Given the description of an element on the screen output the (x, y) to click on. 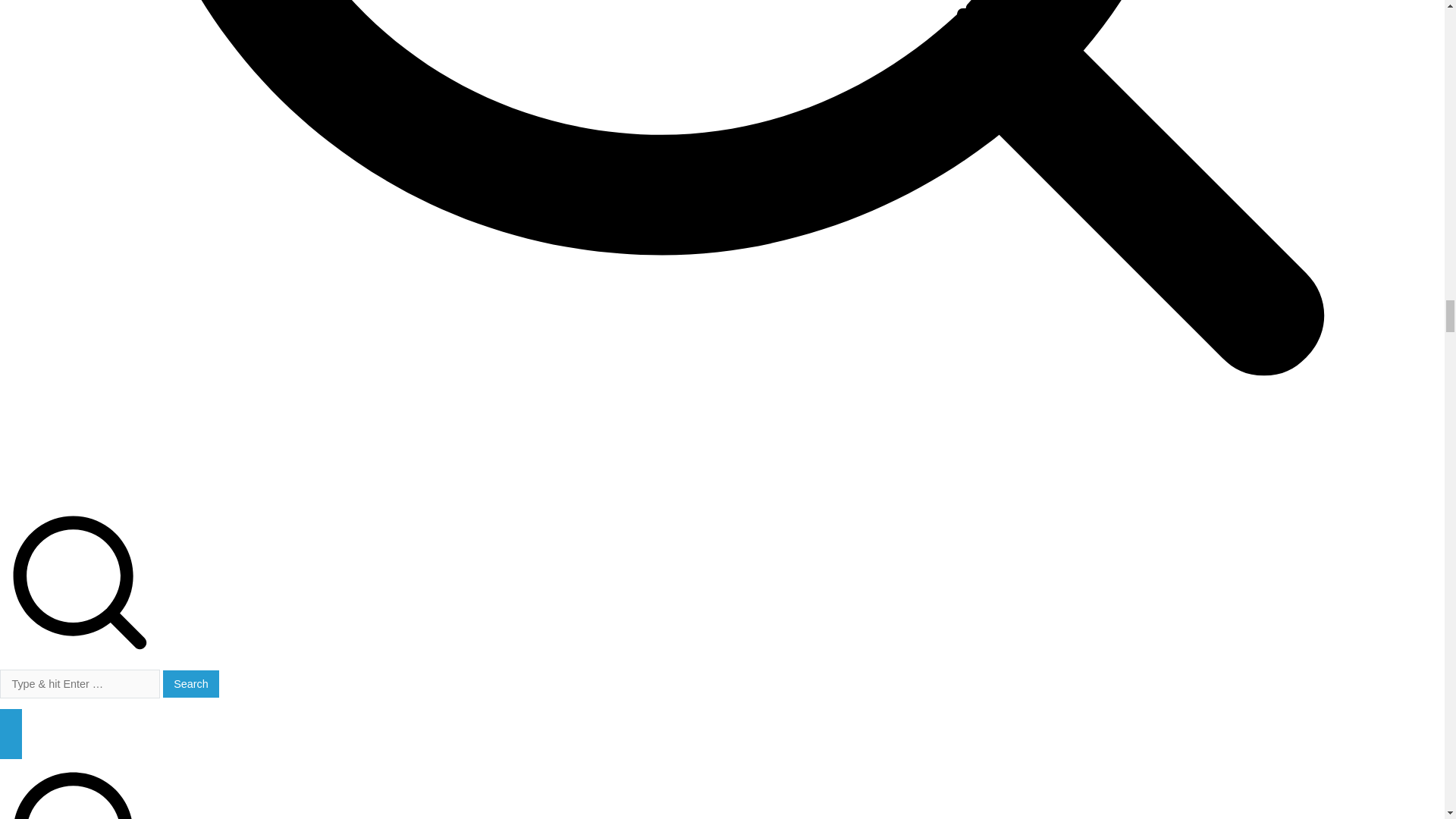
Search (191, 683)
Search for: (80, 683)
Search (191, 683)
Search (191, 683)
